Given the description of an element on the screen output the (x, y) to click on. 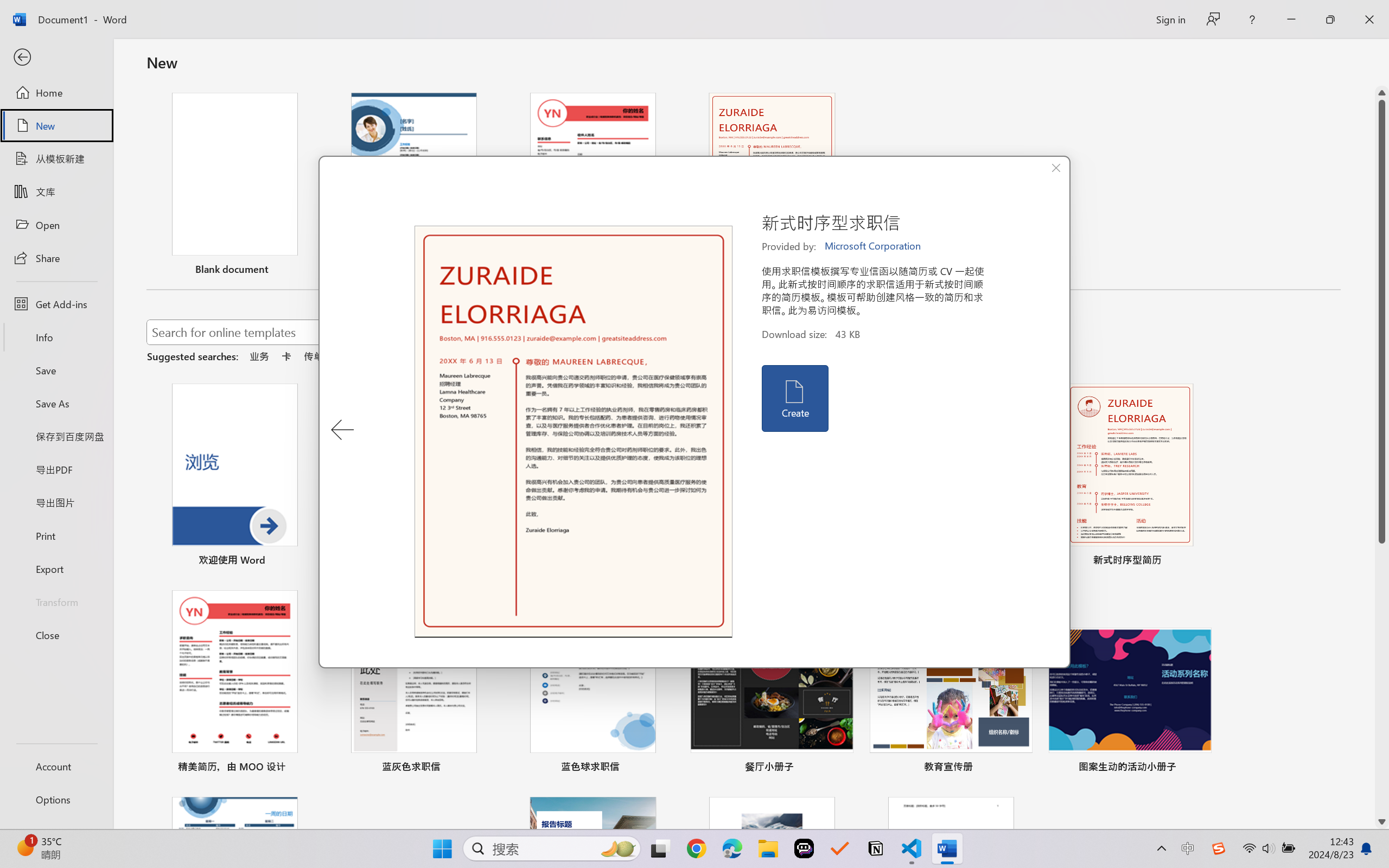
Start searching (638, 332)
Account (56, 765)
Blank document (234, 185)
Microsoft Corporation (873, 246)
